Given the description of an element on the screen output the (x, y) to click on. 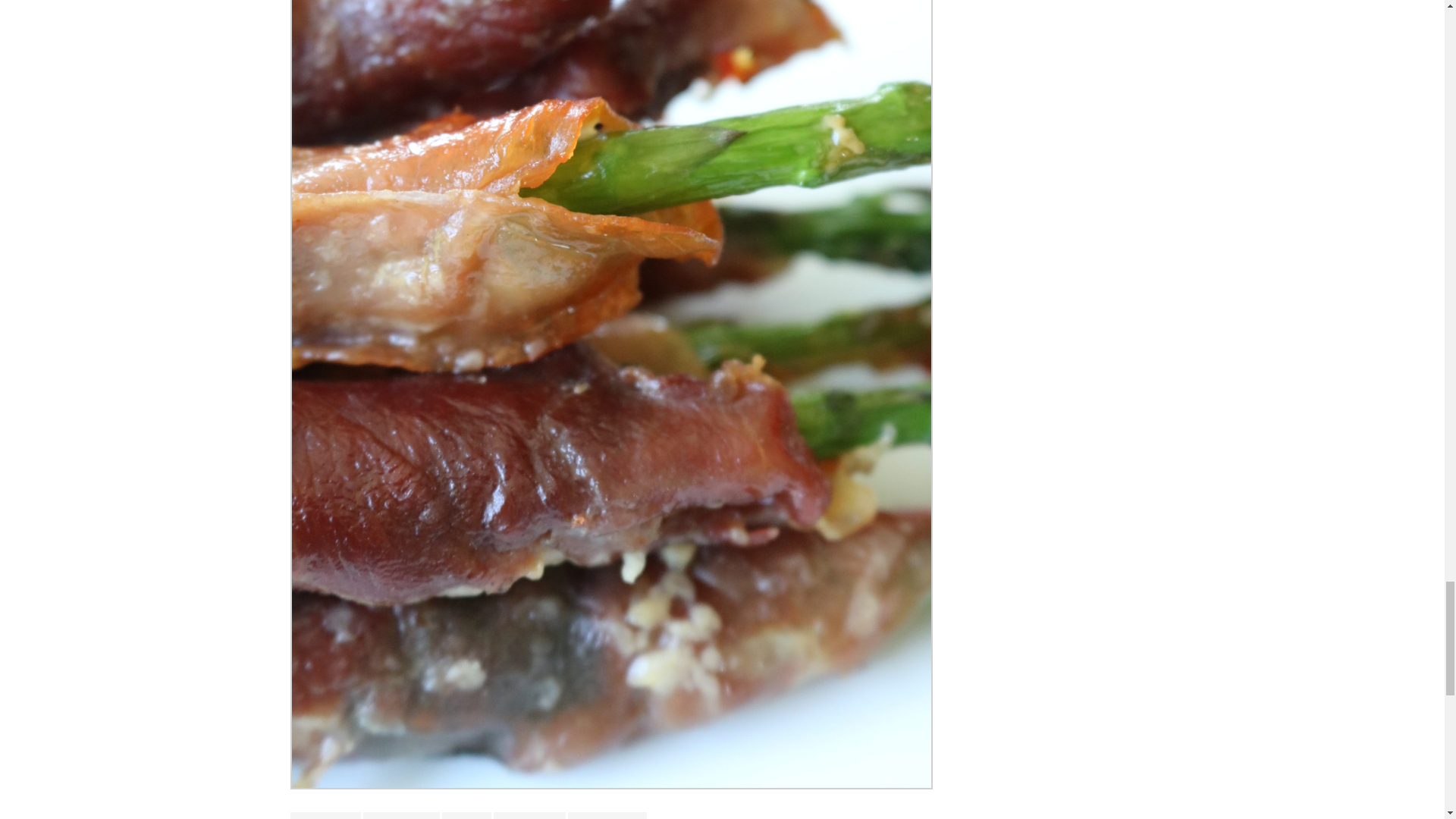
ASPARAGUS (400, 815)
APPETIZER (324, 815)
PARMESAN (528, 815)
PROSCIUTTO (606, 815)
BASIL (467, 815)
